Given the description of an element on the screen output the (x, y) to click on. 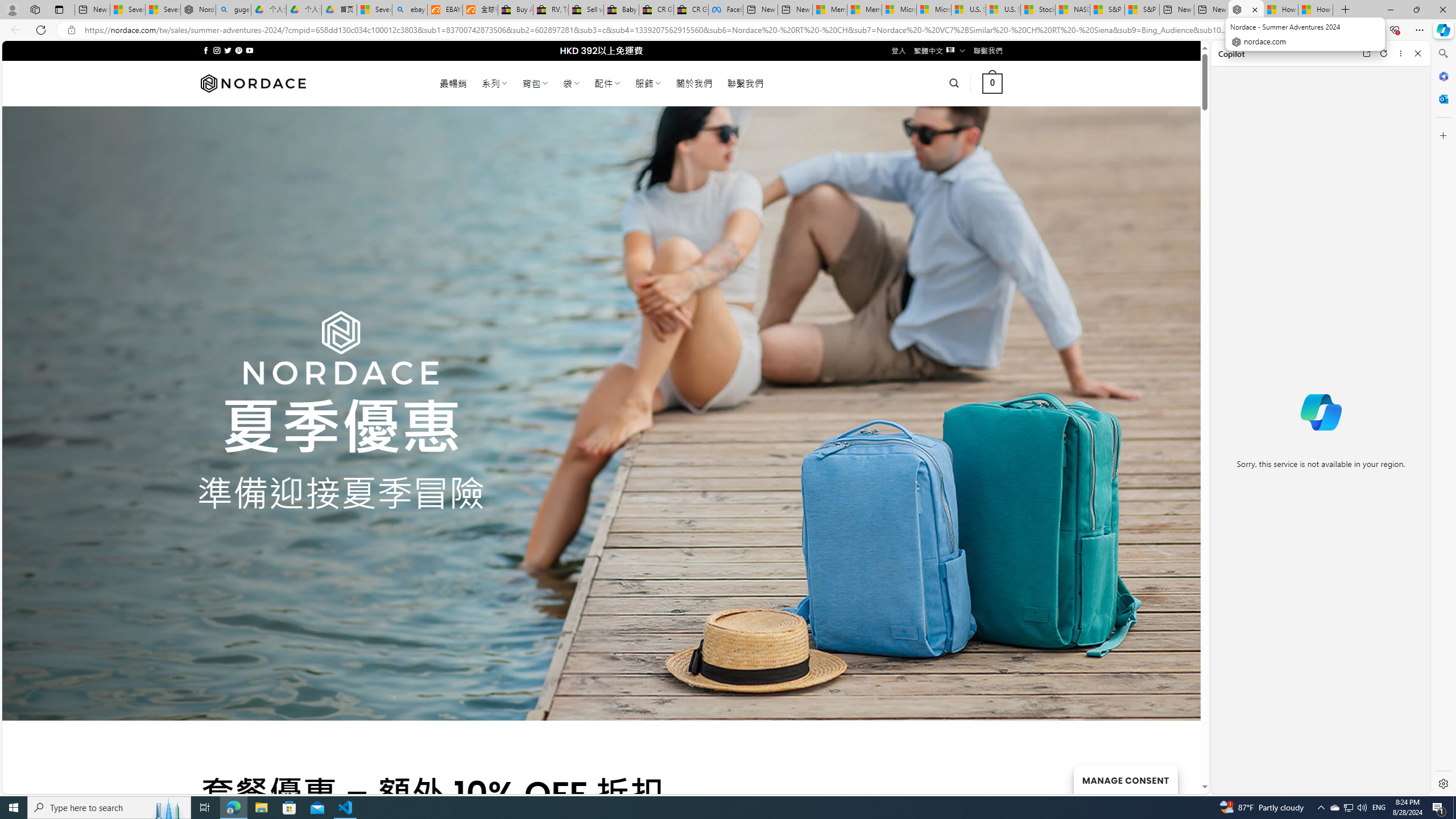
Follow on Twitter (227, 50)
 0  (992, 83)
Open link in new tab (1366, 53)
Follow on Pinterest (237, 50)
